Given the description of an element on the screen output the (x, y) to click on. 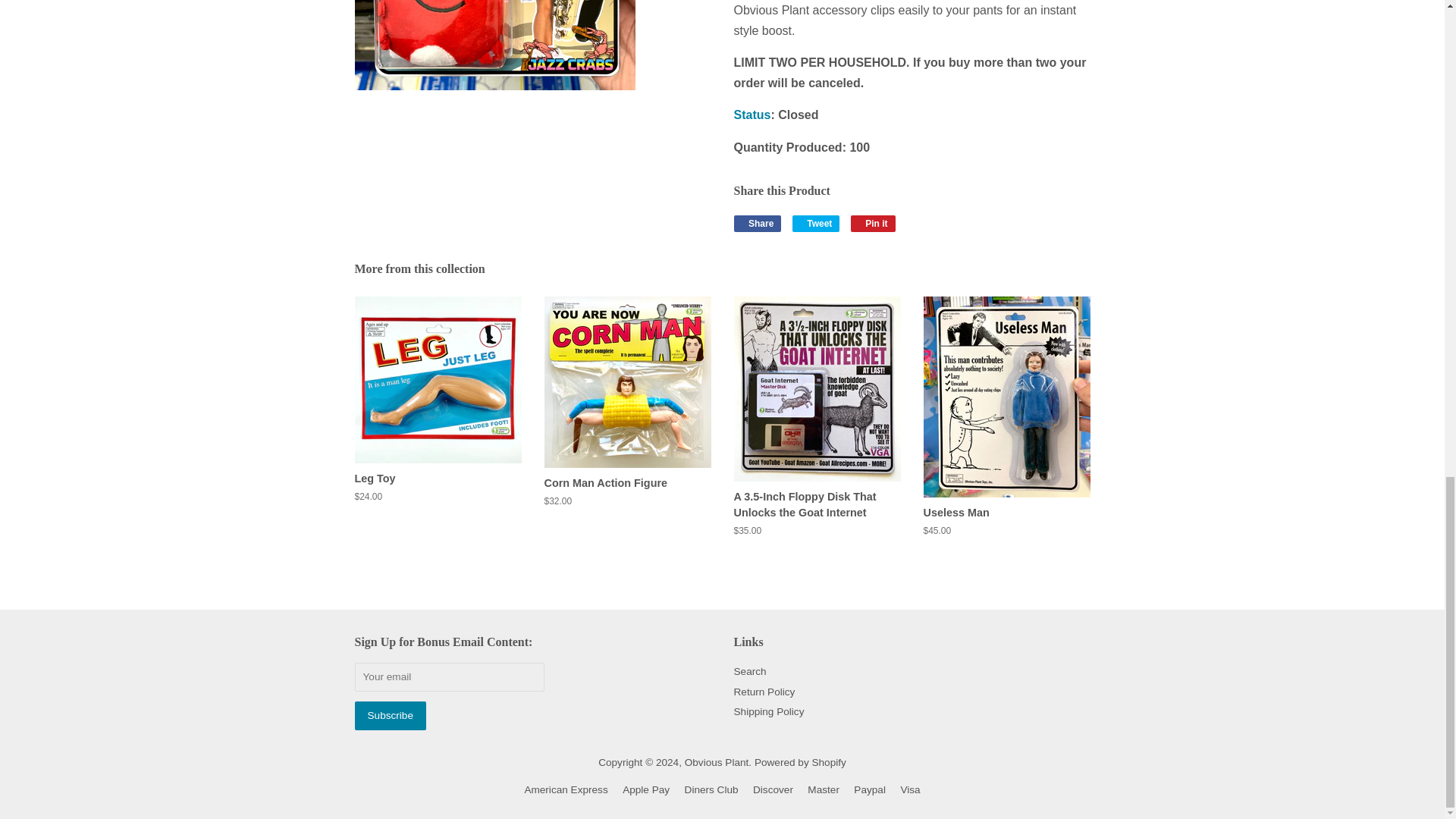
Share on Facebook (757, 223)
Tweet on Twitter (816, 223)
Shipping Policy (816, 223)
Obvious Plant (769, 711)
Pin on Pinterest (716, 762)
Search (872, 223)
Powered by Shopify (872, 223)
Subscribe (750, 671)
Status (757, 223)
Subscribe (799, 762)
Return Policy (390, 715)
